Given the description of an element on the screen output the (x, y) to click on. 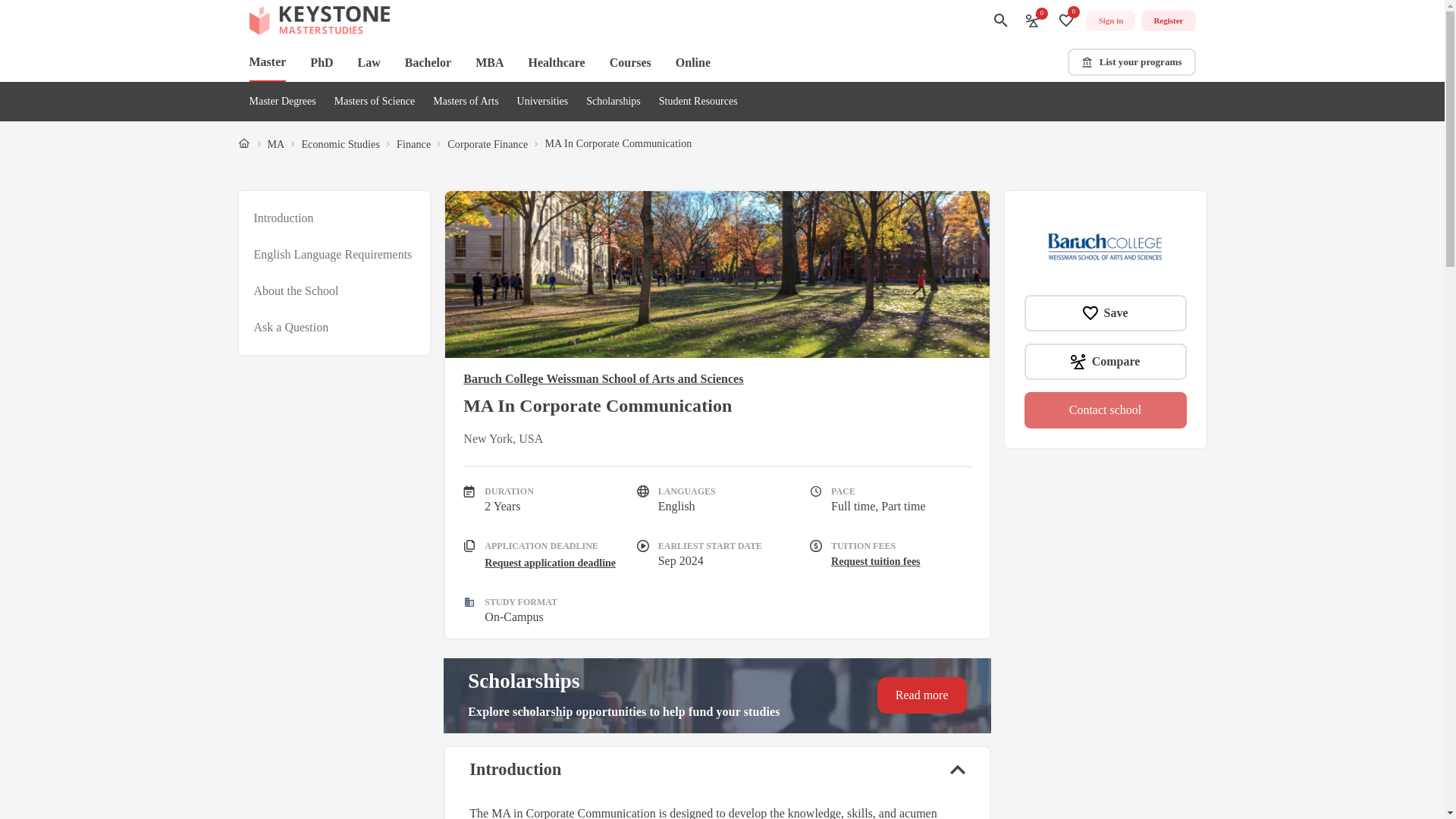
Online (692, 63)
Master (266, 62)
Finance (413, 144)
Student Resources (698, 101)
Corporate Finance (486, 144)
Bachelor (427, 63)
0 (1066, 20)
List your programs (1131, 62)
Sign in (1110, 20)
